Given the description of an element on the screen output the (x, y) to click on. 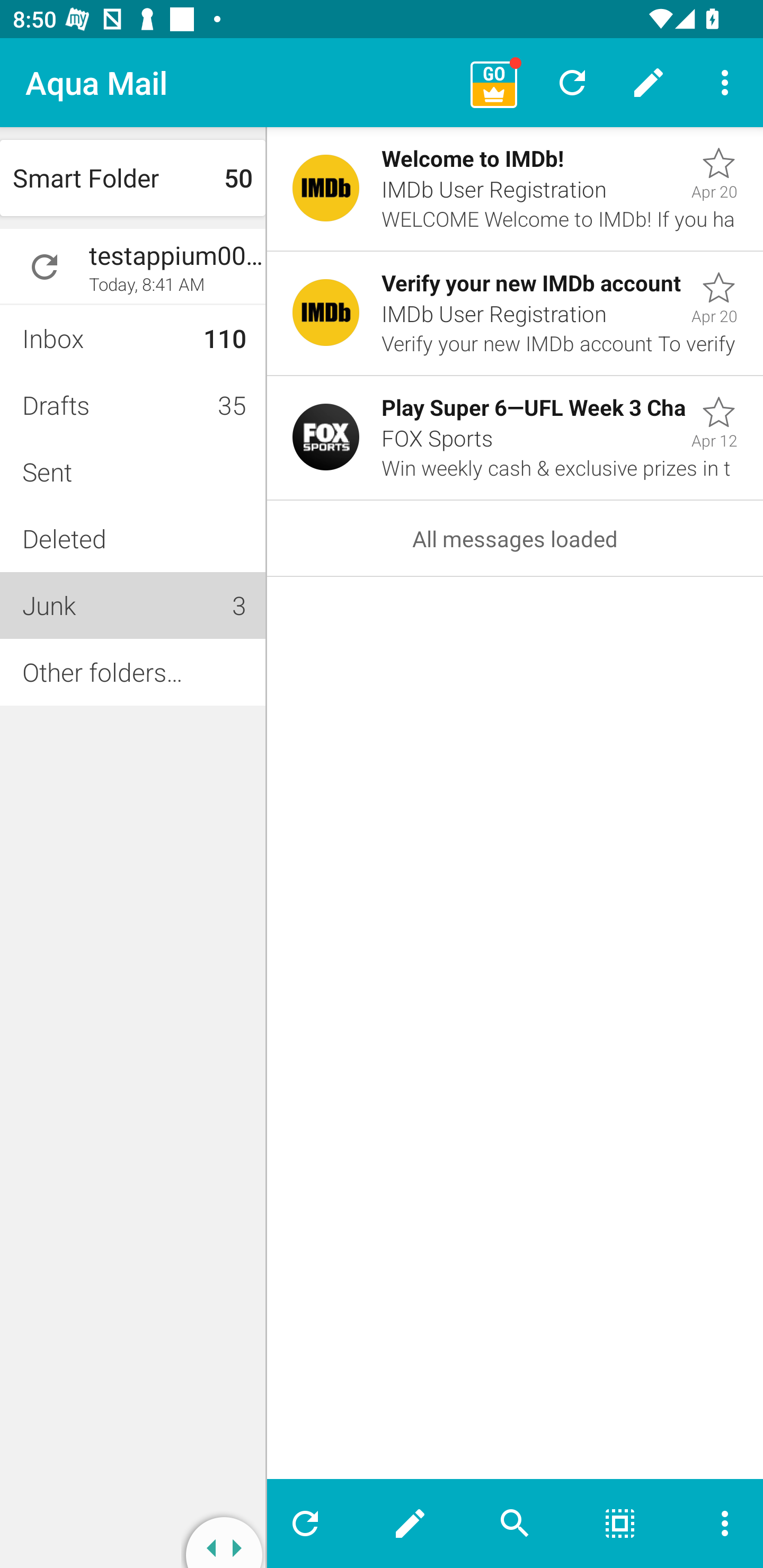
Refresh all (572, 82)
New message (648, 82)
More options (724, 81)
Smart Folder 50 50 unread, 50 total messages (132, 177)
Refresh account (44, 266)
Sent Folder: Sent 24 total messages (132, 471)
All messages loaded (515, 538)
Deleted Folder: Deleted 0 total messages (132, 538)
Junk Folder: Junk 3 3 total messages (132, 605)
Other folders… (132, 671)
Refresh (312, 1523)
New message (409, 1523)
Search (514, 1523)
Select all (619, 1523)
More options (717, 1522)
